Given the description of an element on the screen output the (x, y) to click on. 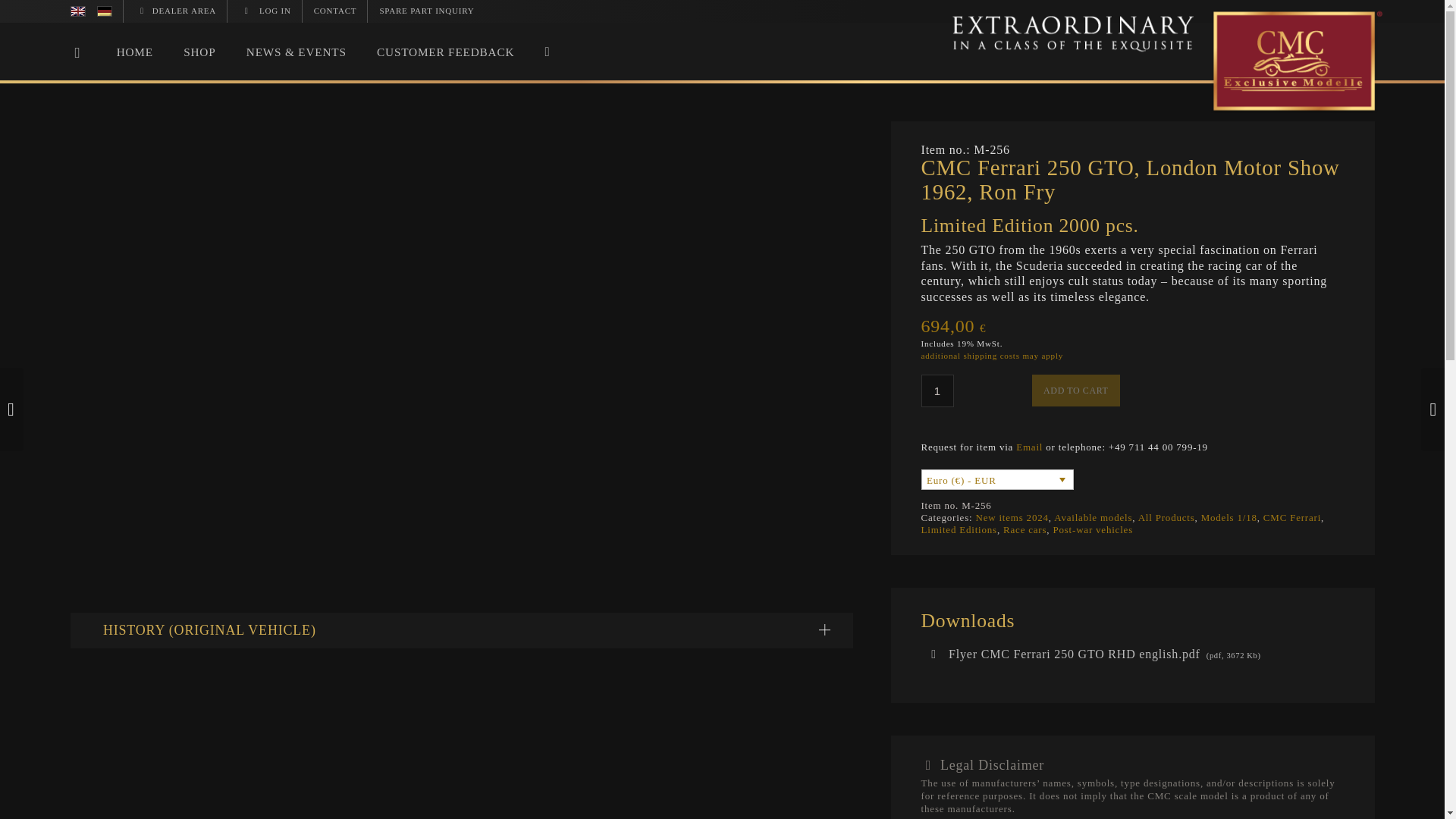
1 (936, 390)
DEALER AREA (175, 10)
SPARE PART INQUIRY (426, 10)
SHOP (199, 52)
CONTACT (335, 10)
LOG IN (264, 10)
HOME (134, 52)
